Given the description of an element on the screen output the (x, y) to click on. 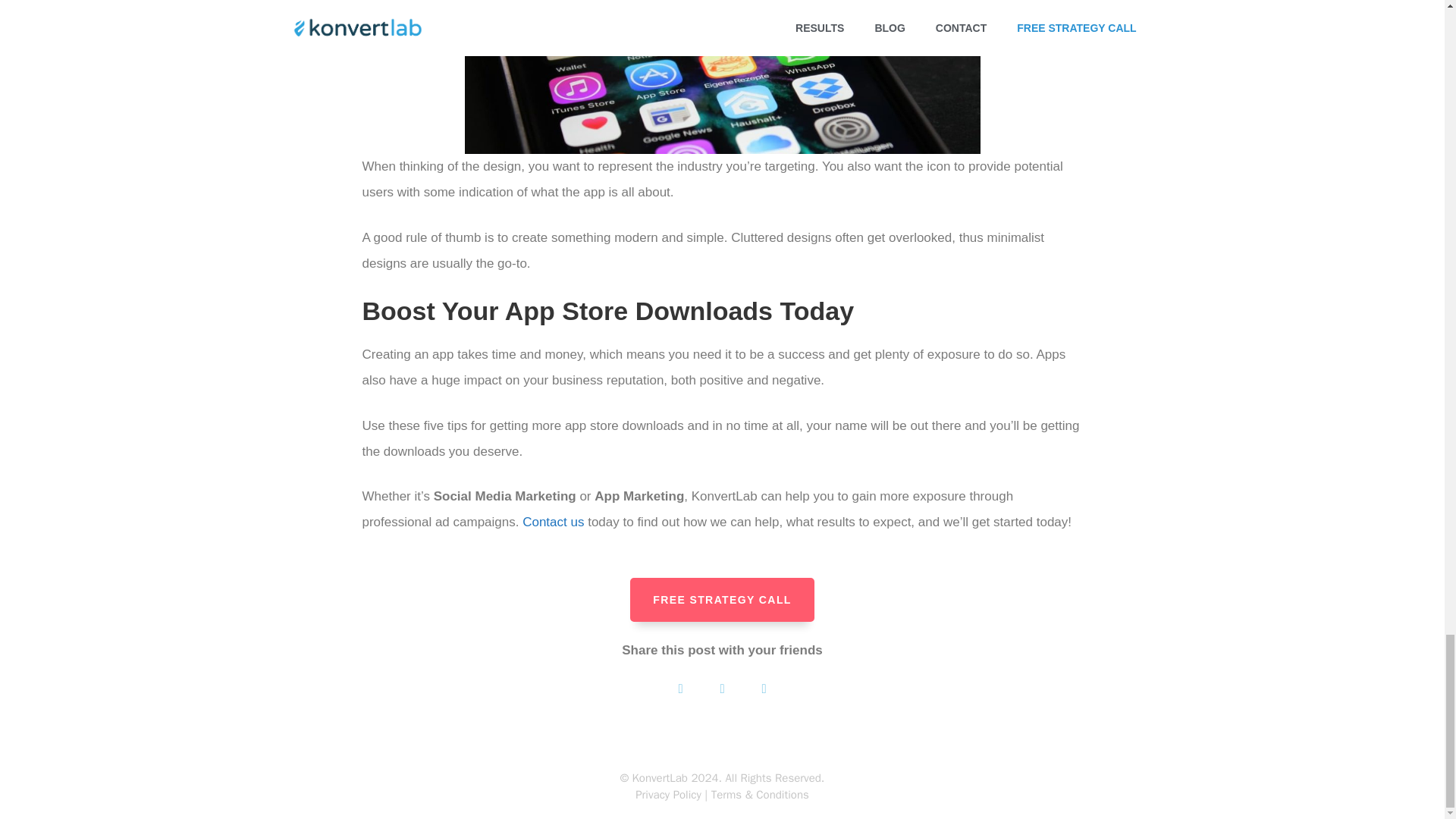
Contact us (552, 522)
Privacy Policy (667, 794)
FREE STRATEGY CALL (721, 599)
